Given the description of an element on the screen output the (x, y) to click on. 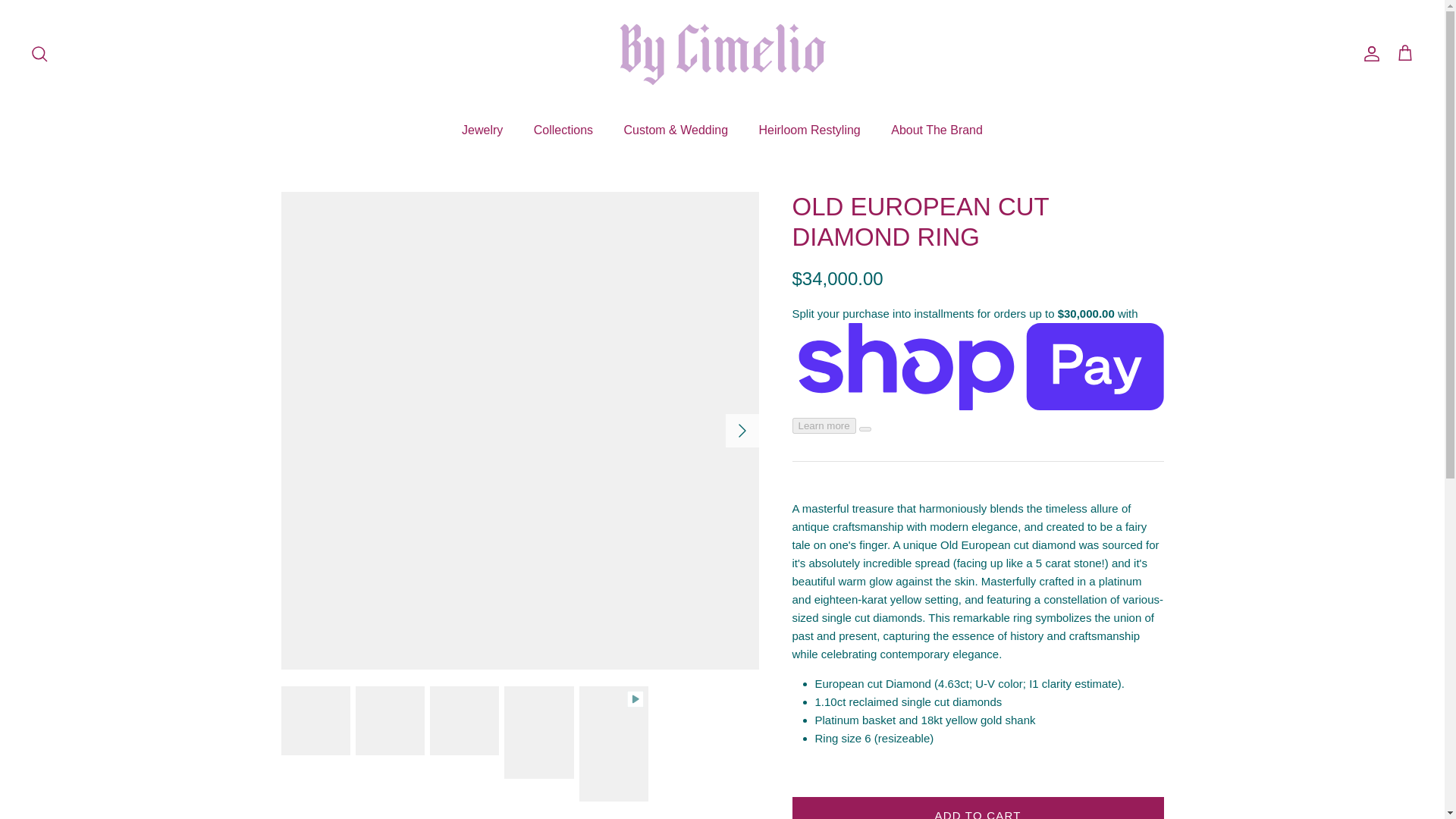
RIGHT (741, 430)
Search (39, 53)
Collections (563, 130)
Jewelry (482, 130)
Cart (1404, 53)
Account (1368, 53)
By Cimelio (721, 53)
